Given the description of an element on the screen output the (x, y) to click on. 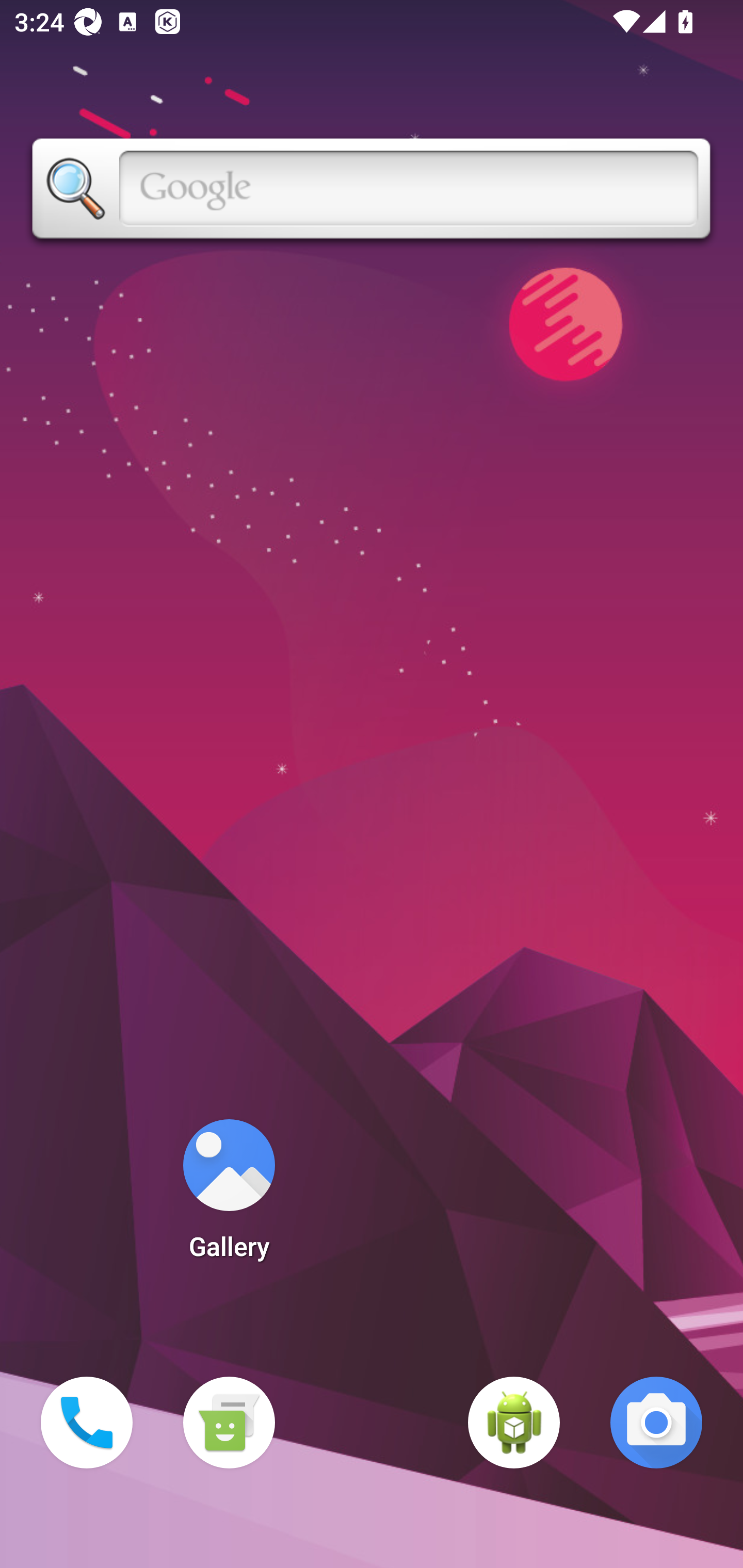
Gallery (228, 1195)
Phone (86, 1422)
Messaging (228, 1422)
WebView Browser Tester (513, 1422)
Camera (656, 1422)
